Given the description of an element on the screen output the (x, y) to click on. 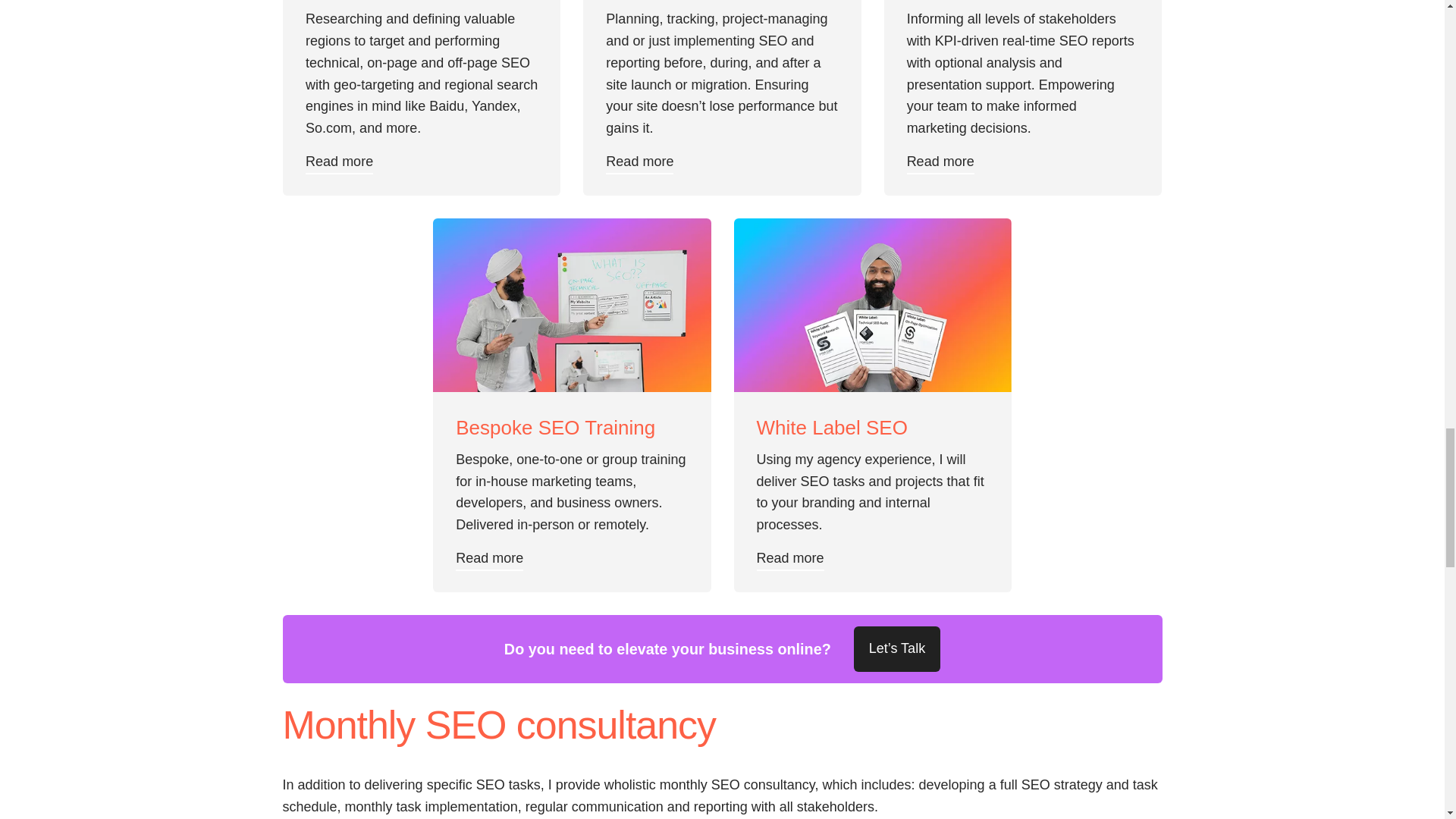
Read more (338, 161)
